Given the description of an element on the screen output the (x, y) to click on. 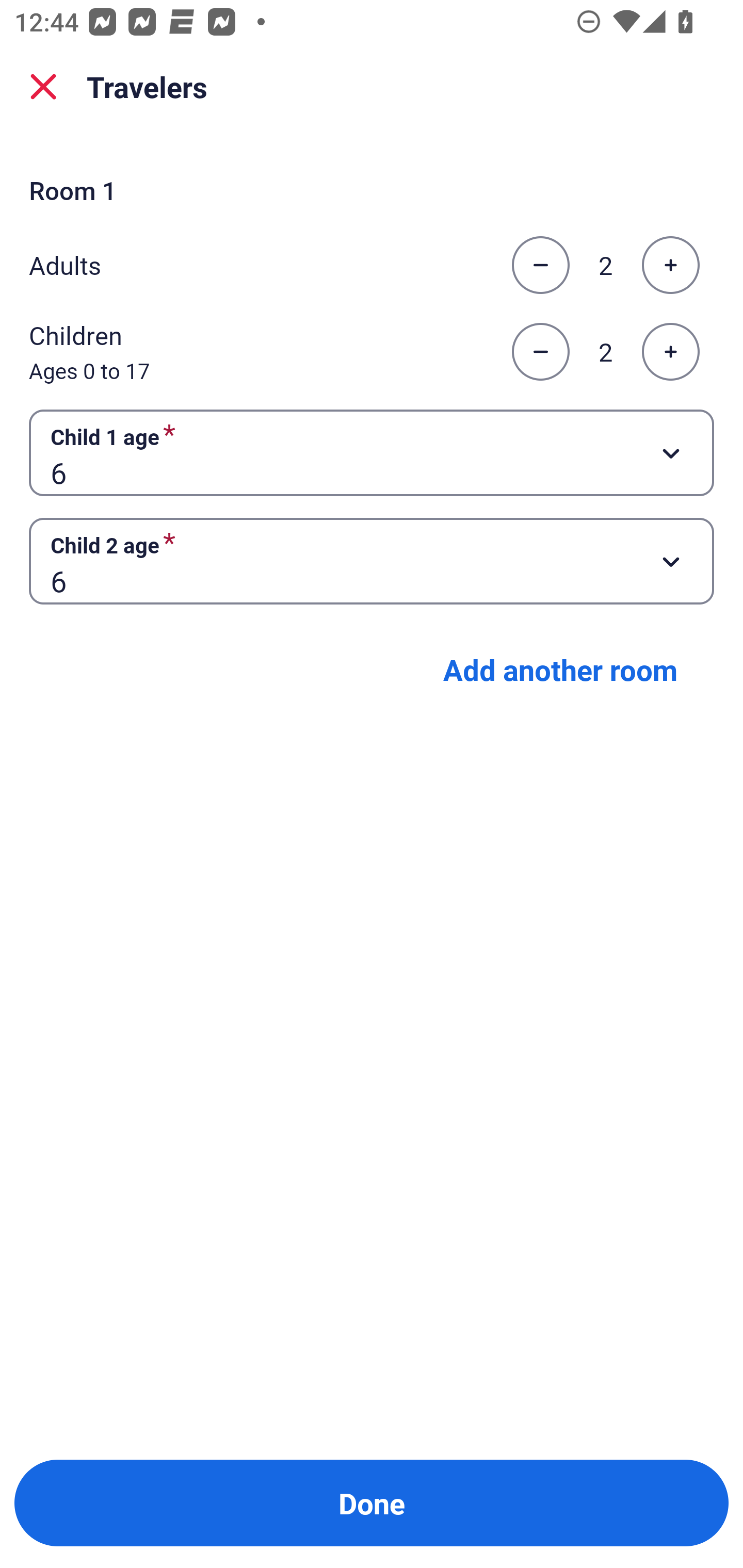
close (43, 86)
Decrease the number of adults (540, 264)
Increase the number of adults (670, 264)
Decrease the number of children (540, 351)
Increase the number of children (670, 351)
Child 1 age required Button 6 (371, 452)
Child 2 age required Button 6 (371, 561)
Add another room (560, 669)
Done (371, 1502)
